Given the description of an element on the screen output the (x, y) to click on. 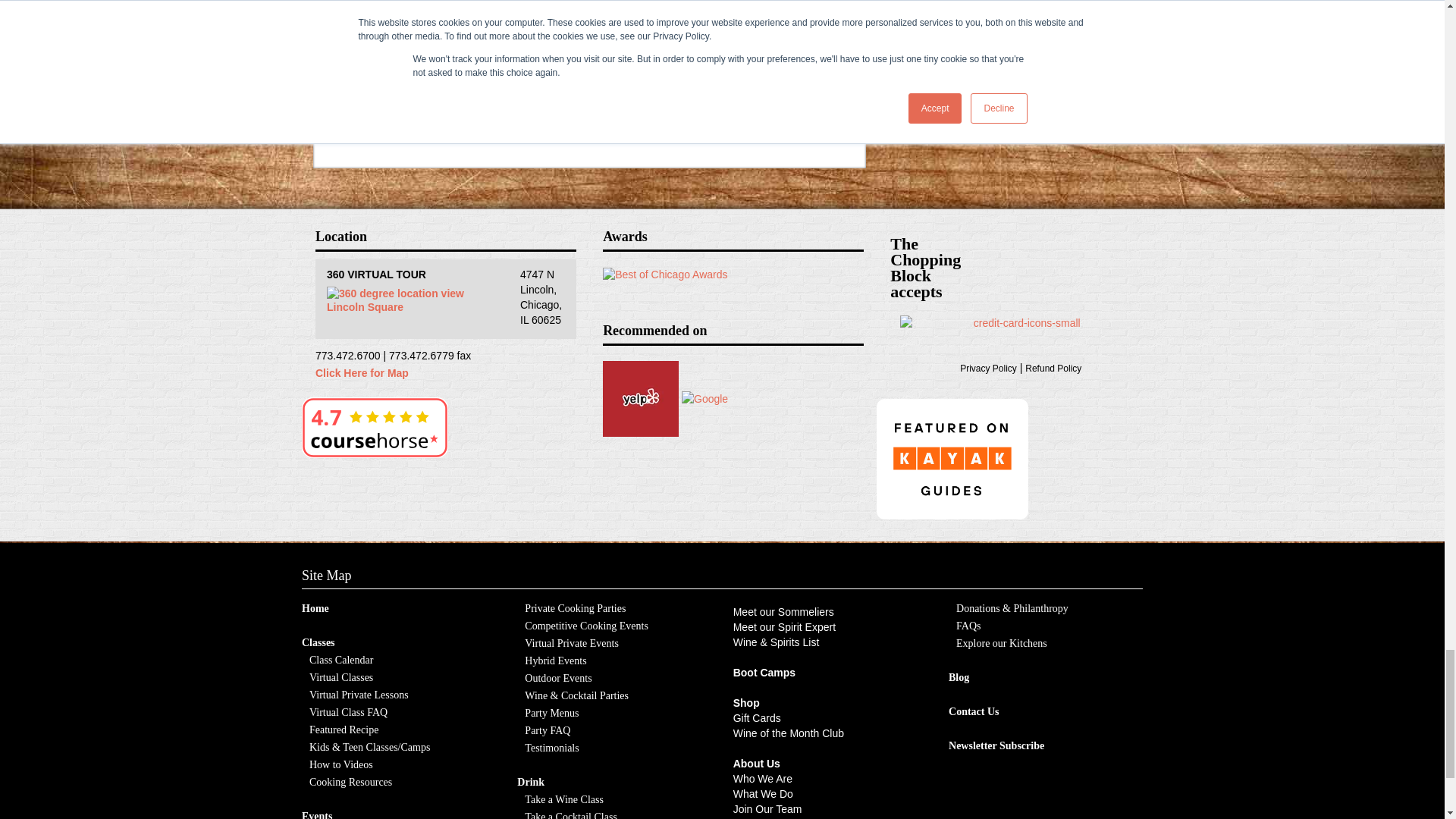
reCAPTCHA (431, 54)
Submit Comment (486, 115)
yelplogo.png (640, 398)
